Given the description of an element on the screen output the (x, y) to click on. 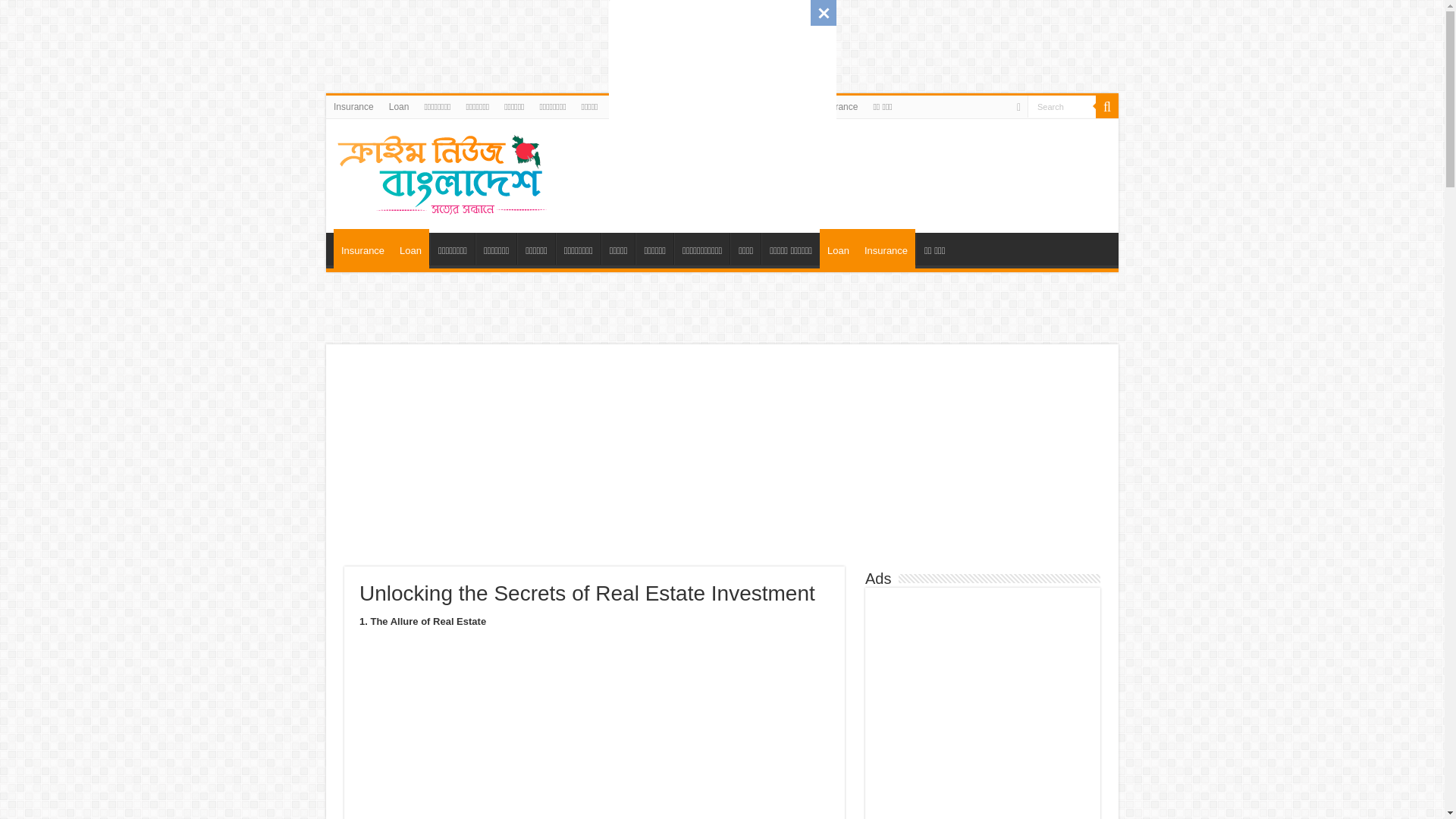
Search (1061, 106)
Insurance (838, 106)
Loan (398, 106)
Search (1061, 106)
Loan (792, 106)
Advertisement (721, 94)
Loan (410, 248)
Search (1061, 106)
Advertisement (457, 462)
Insurance (353, 106)
